Given the description of an element on the screen output the (x, y) to click on. 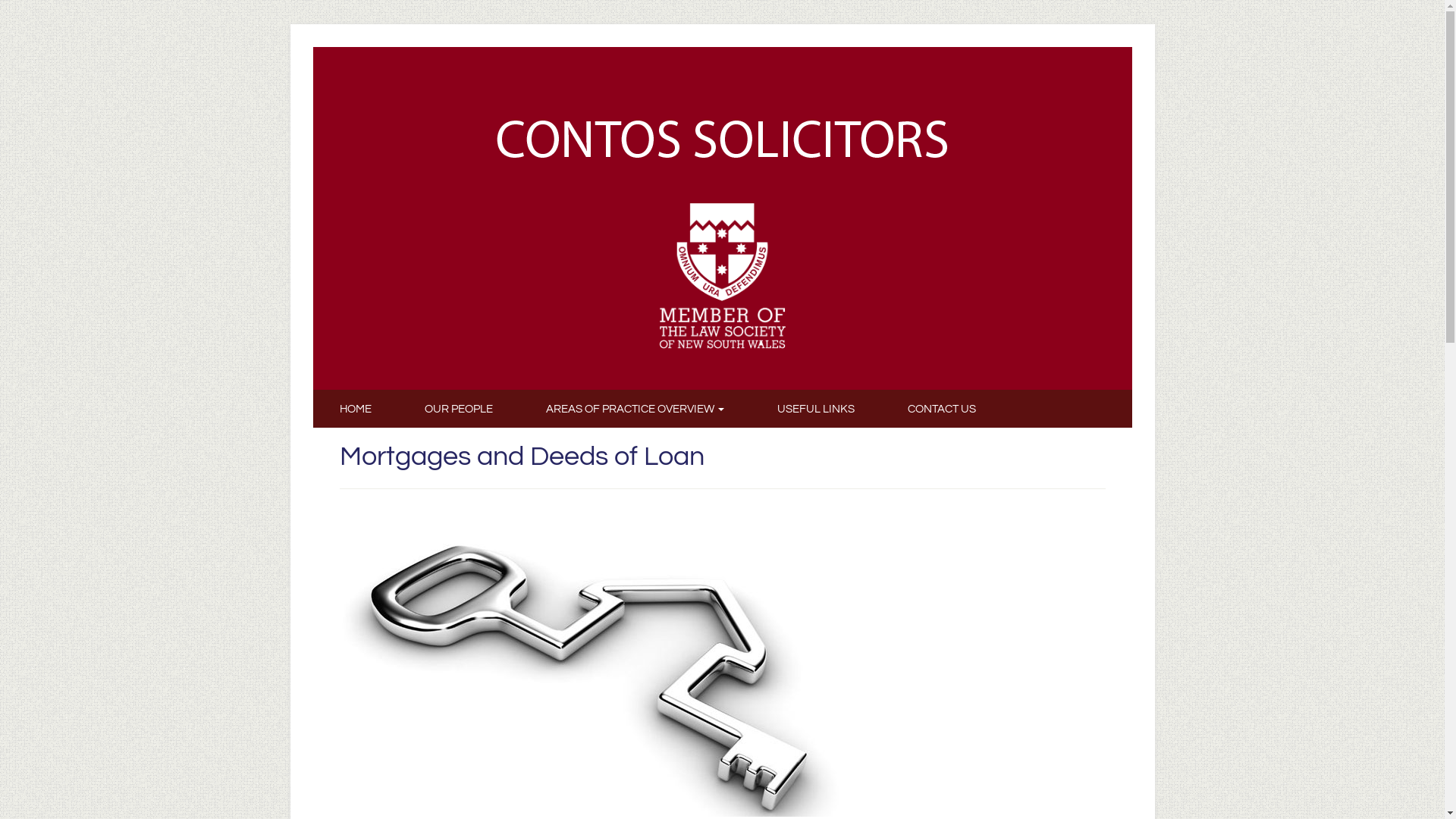
CONTACT US Element type: text (941, 408)
Contos Solicitors Element type: hover (721, 140)
AREAS OF PRACTICE OVERVIEW Element type: text (633, 408)
Merrylands Law Practice Element type: hover (721, 138)
Search Element type: text (39, 17)
HOME Element type: text (354, 408)
OUR PEOPLE Element type: text (457, 408)
law society Element type: hover (721, 275)
USEFUL LINKS Element type: text (815, 408)
